Given the description of an element on the screen output the (x, y) to click on. 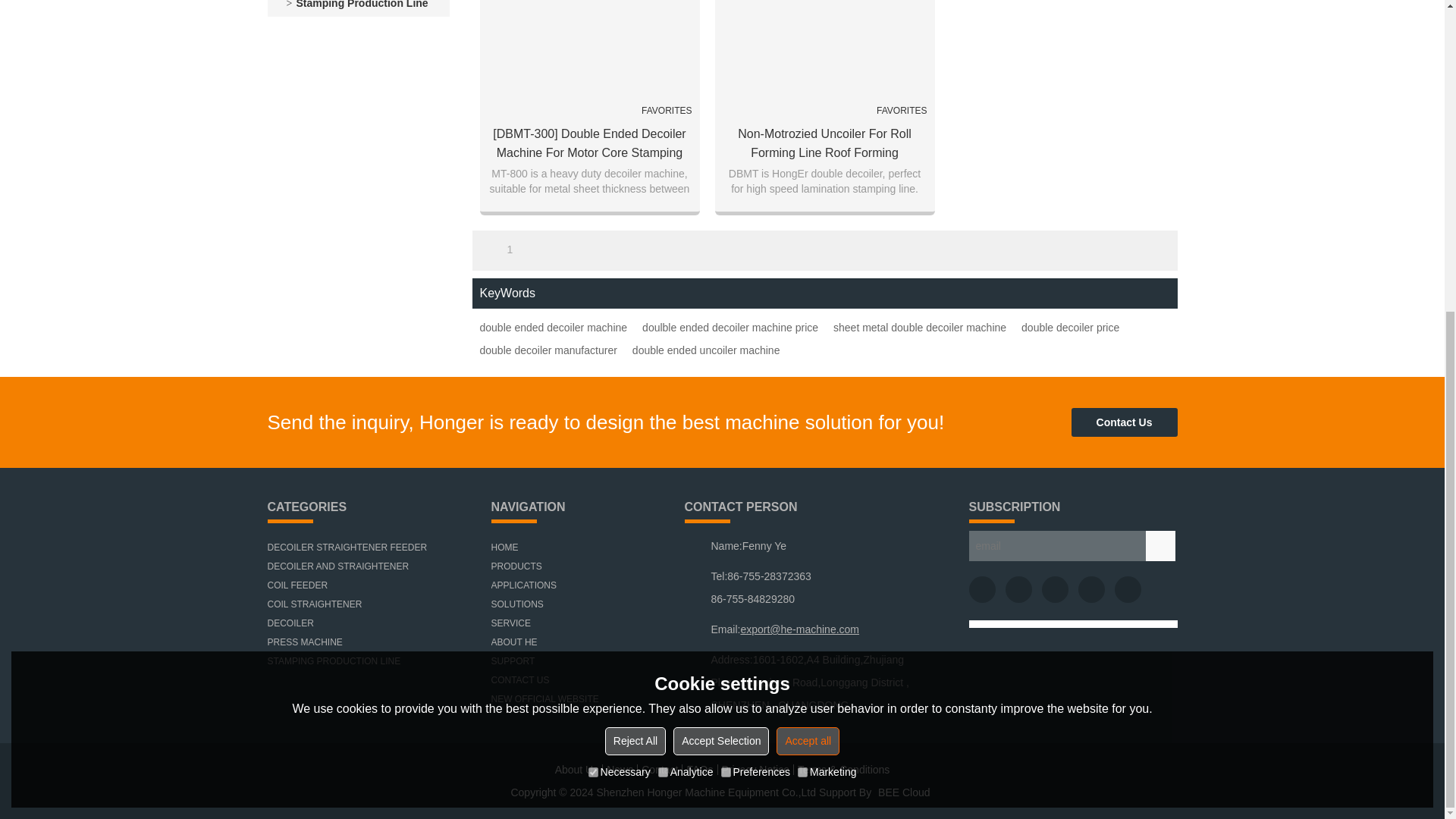
on (593, 276)
on (725, 276)
on (663, 276)
on (802, 276)
